Given the description of an element on the screen output the (x, y) to click on. 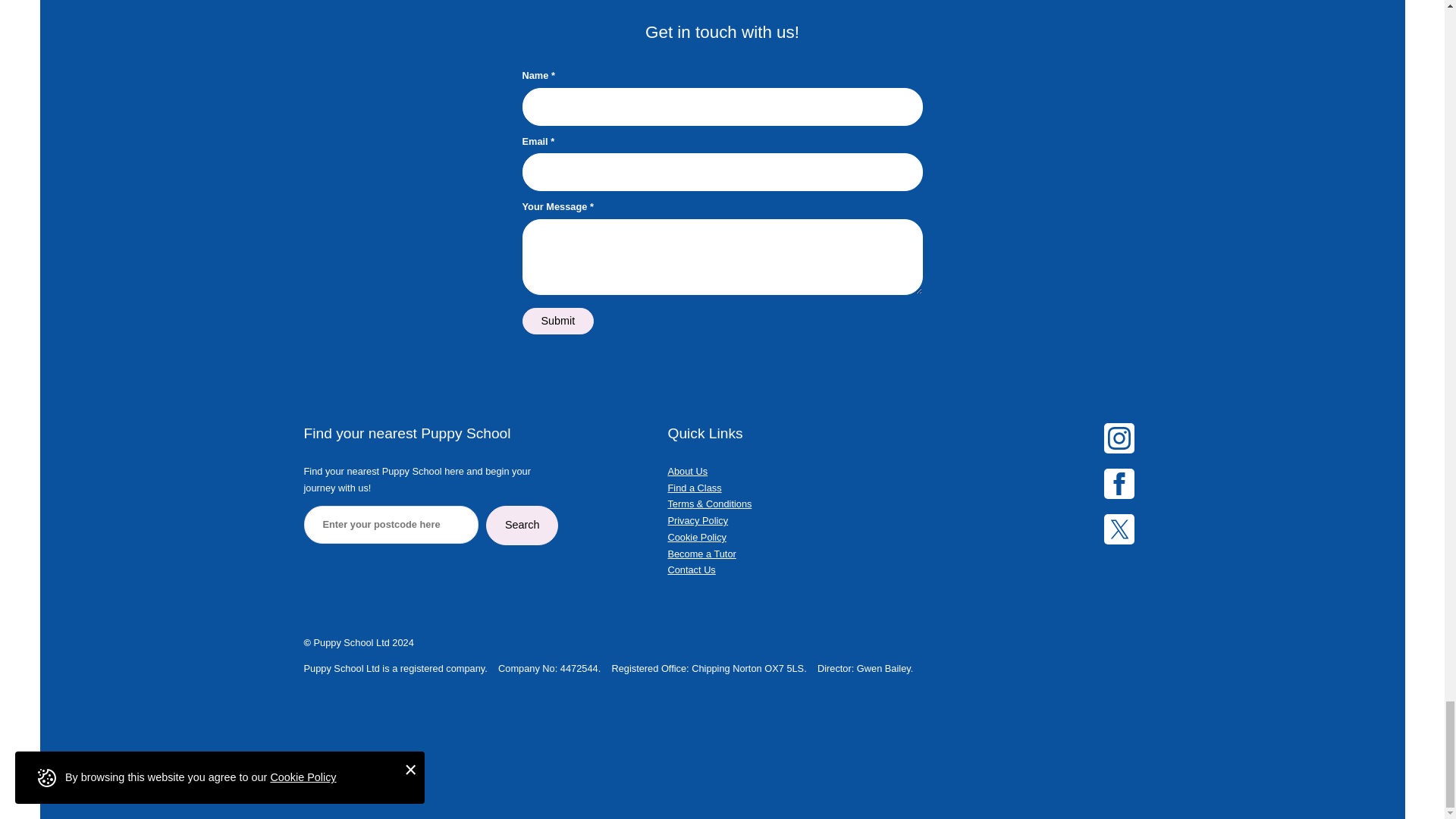
Find a Class (693, 487)
About Us (686, 471)
Submit (557, 320)
Cookie Policy (696, 536)
Search (522, 525)
Contact Us (690, 569)
Privacy Policy (697, 520)
Become a Tutor (700, 553)
